Given the description of an element on the screen output the (x, y) to click on. 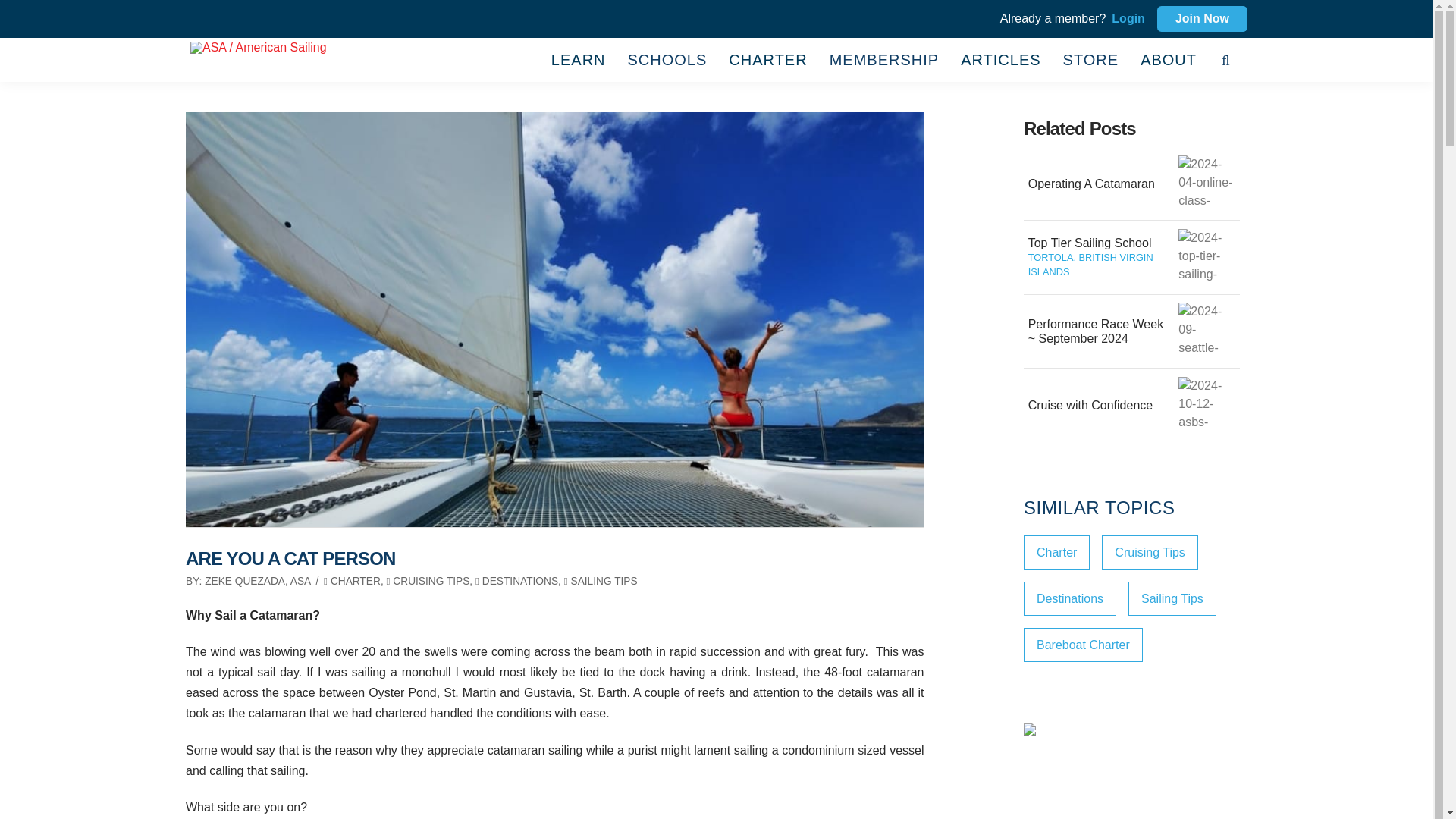
CRUISING TIPS (428, 581)
ZEKE QUEZADA, ASA (258, 581)
2024 PRW Seattle (1205, 330)
Join Now (1202, 18)
SAILING TIPS (600, 581)
Top Tier Sailing School (1205, 257)
Operating A Catamaran (1205, 183)
Posts by Zeke Quezada, ASA (258, 581)
SCHOOLS (666, 59)
Login (1124, 18)
MEMBERSHIP (883, 59)
DESTINATIONS (516, 581)
STORE (1090, 59)
CHARTER (351, 581)
